Given the description of an element on the screen output the (x, y) to click on. 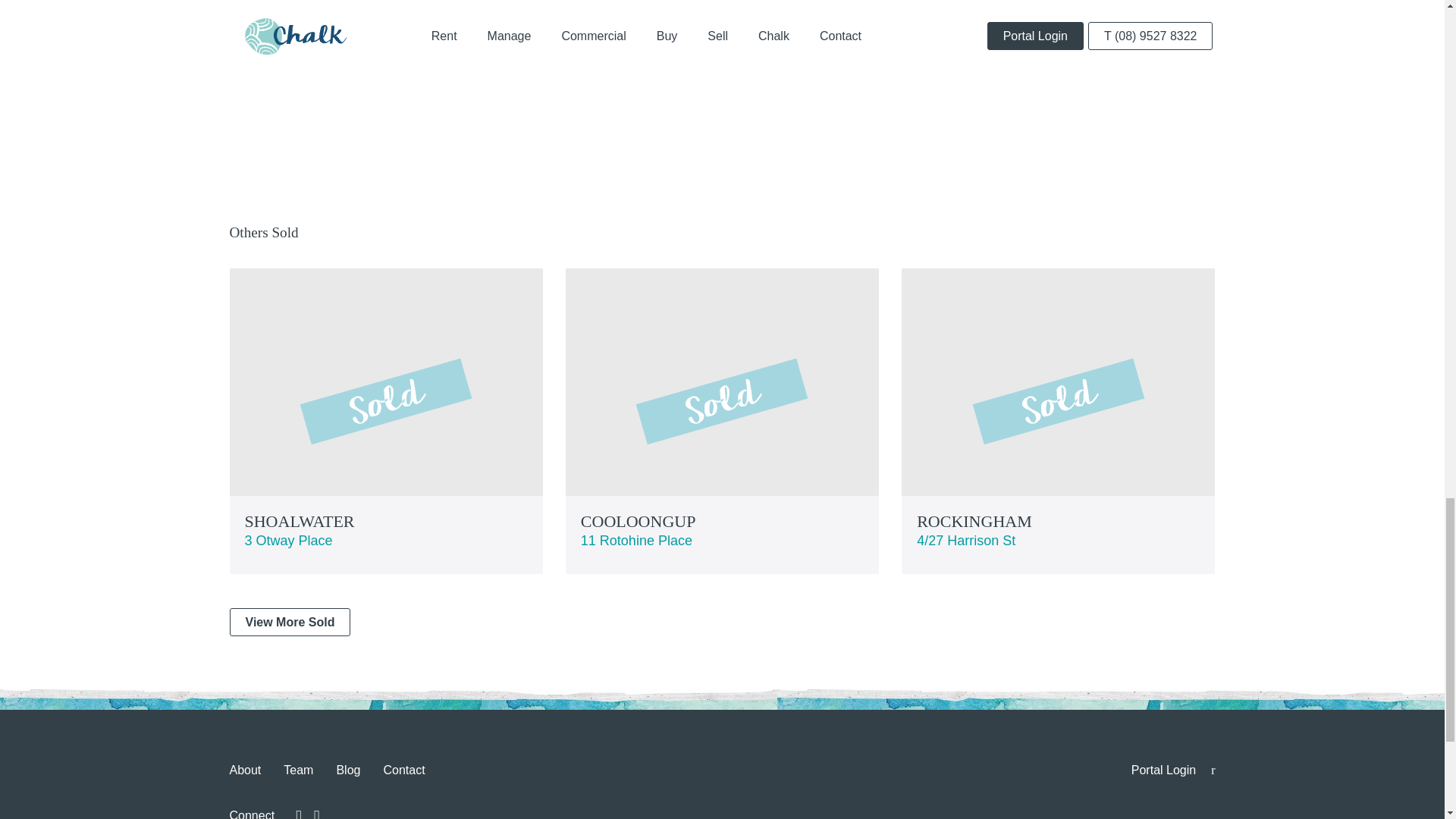
View More Sold (722, 421)
